Given the description of an element on the screen output the (x, y) to click on. 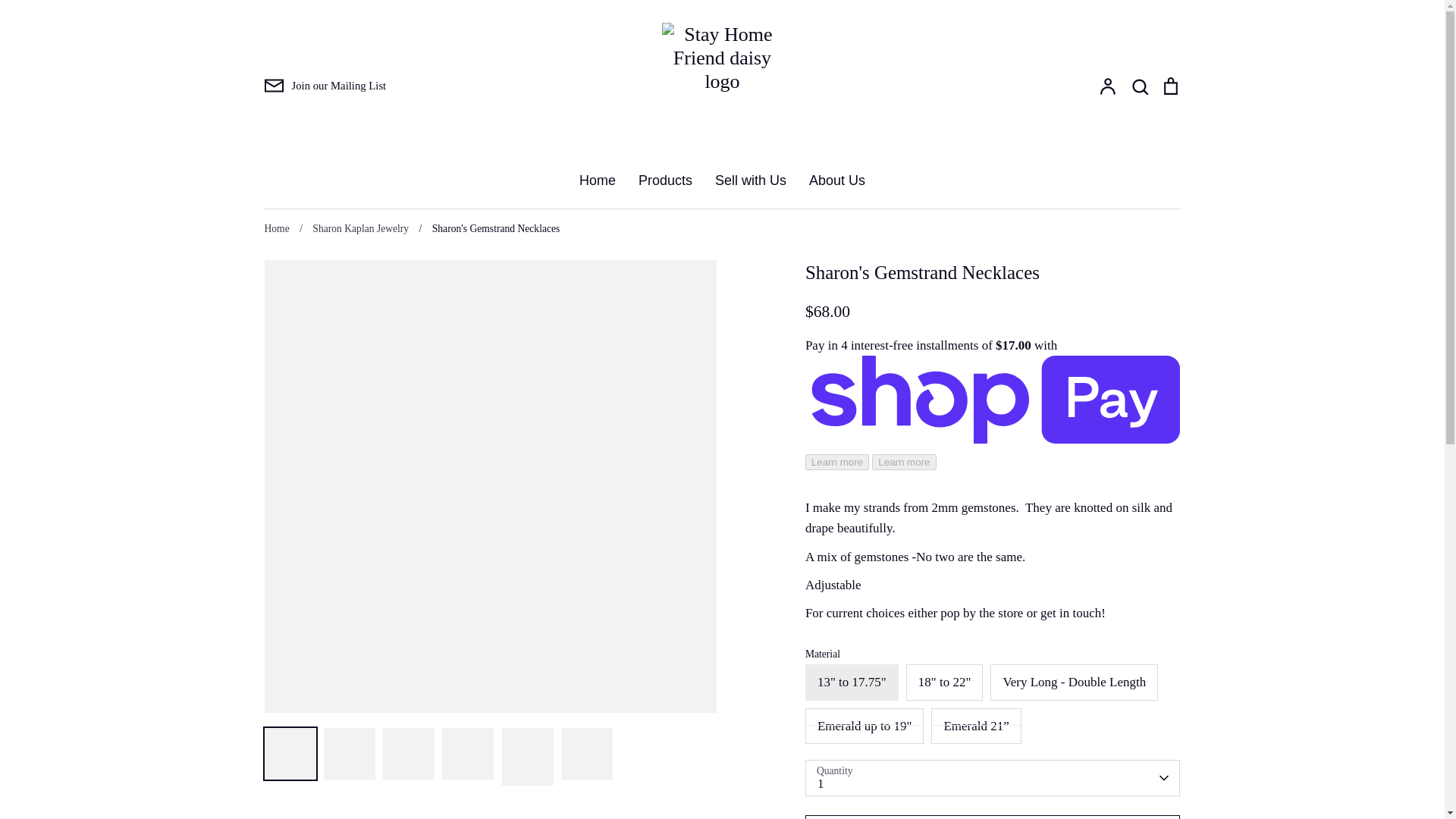
Account (1107, 85)
Join our Mailing List (324, 85)
Search (1139, 85)
Products (666, 180)
Cart (1169, 85)
Home (597, 180)
